Given the description of an element on the screen output the (x, y) to click on. 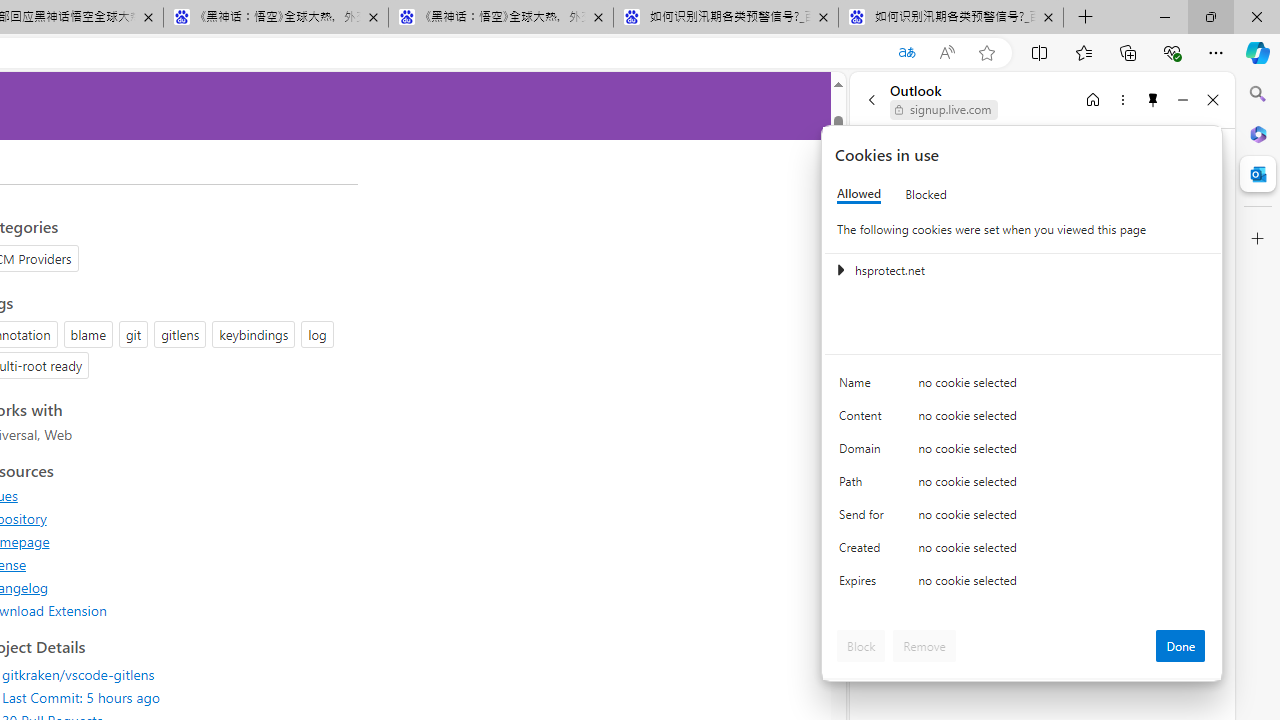
Path (864, 485)
Class: c0153 c0157 c0154 (1023, 386)
Send for (864, 518)
